Given the description of an element on the screen output the (x, y) to click on. 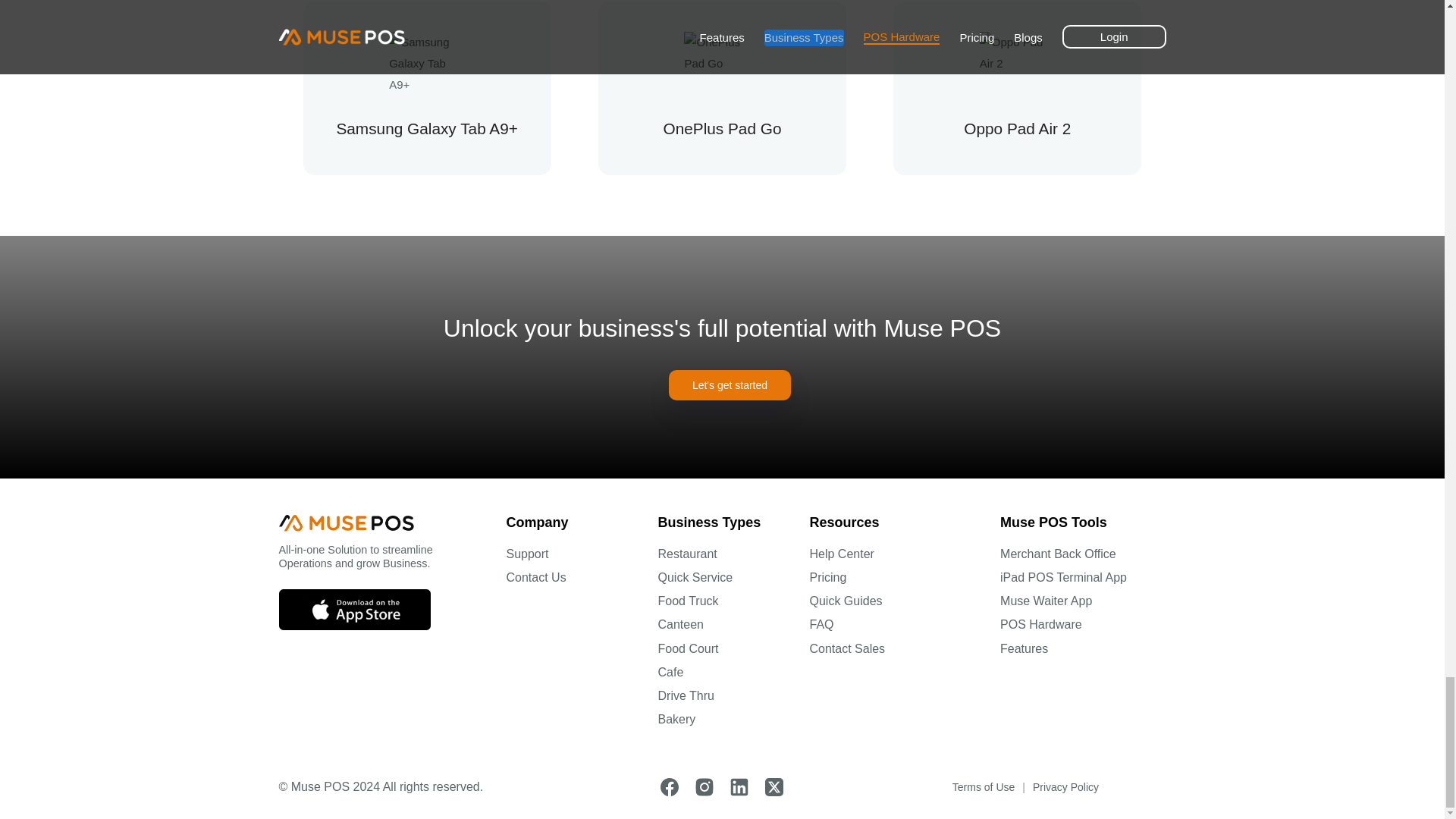
Drive Thru (686, 695)
Cafe (671, 672)
Features (1024, 648)
Food Truck (688, 601)
POS Hardware (1040, 624)
Let's get started (729, 385)
Quick Service (695, 577)
Restaurant (687, 554)
Contact Us (536, 577)
iPad POS Terminal App (1063, 577)
Merchant Back Office (1058, 554)
Bakery (676, 719)
Pricing (828, 577)
Muse Waiter App (1046, 601)
Food Court (688, 648)
